Given the description of an element on the screen output the (x, y) to click on. 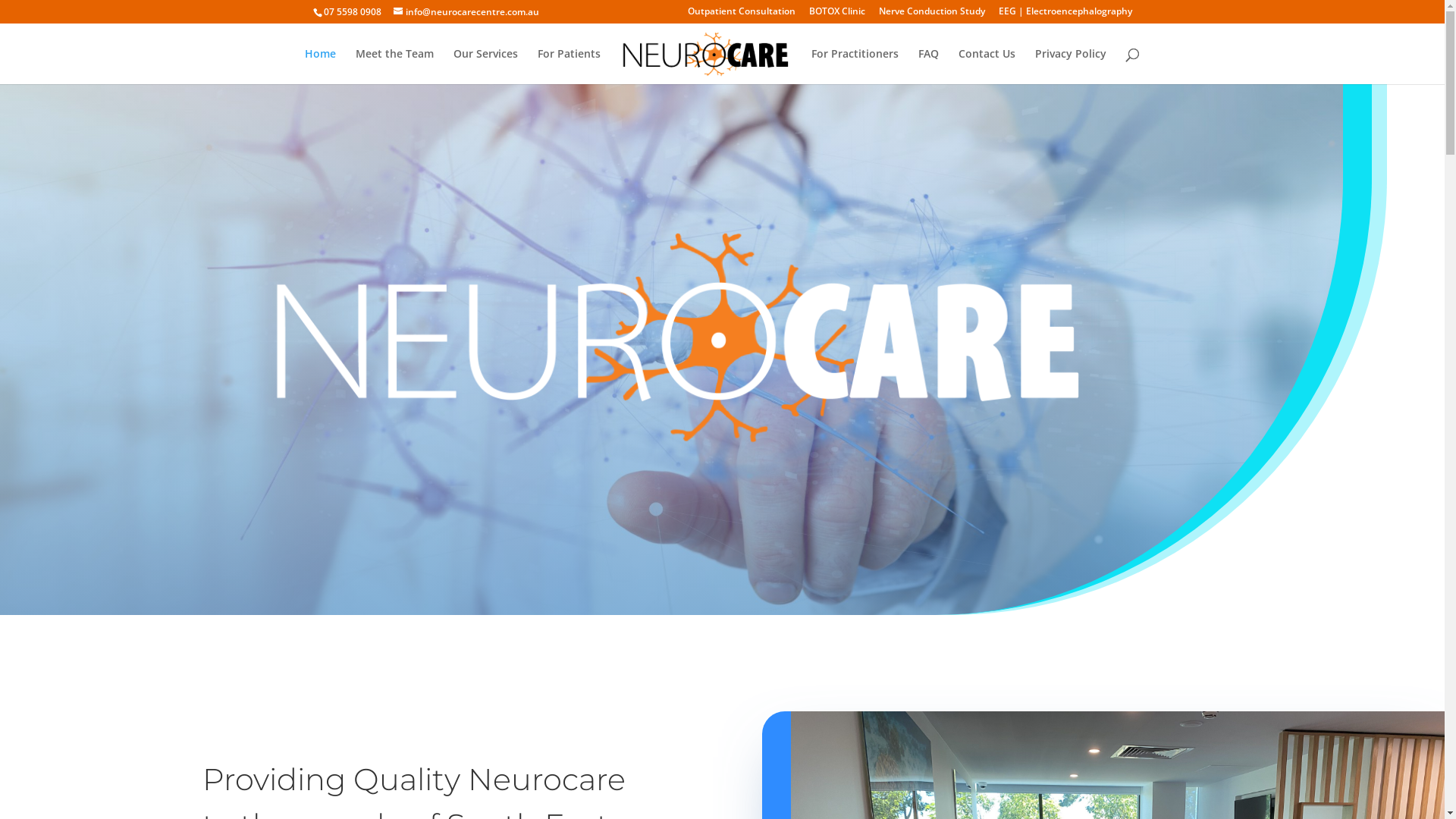
BOTOX Clinic Element type: text (836, 14)
Home Element type: text (319, 66)
Nerve Conduction Study Element type: text (931, 14)
FAQ Element type: text (928, 66)
Outpatient Consultation Element type: text (740, 14)
info@neurocarecentre.com.au Element type: text (465, 11)
For Practitioners Element type: text (854, 66)
Contact Us Element type: text (986, 66)
Privacy Policy Element type: text (1070, 66)
EEG | Electroencephalography Element type: text (1064, 14)
Meet the Team Element type: text (394, 66)
Our Services Element type: text (485, 66)
For Patients Element type: text (568, 66)
